Given the description of an element on the screen output the (x, y) to click on. 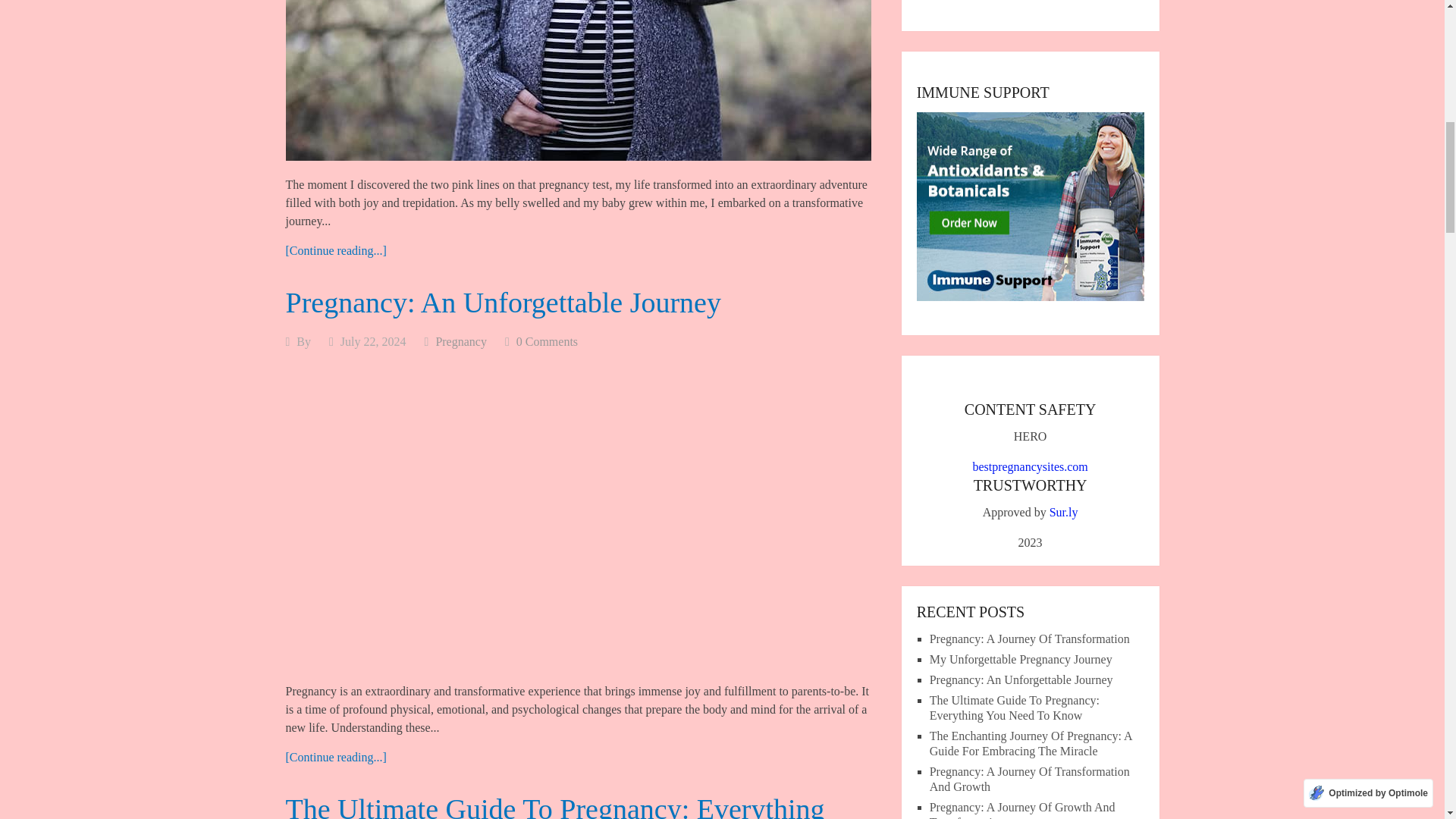
The Ultimate Guide To Pregnancy: Everything You Need To Know (554, 806)
Pregnancy: An Unforgettable Journey (502, 302)
Pregnancy (460, 341)
Pregnancy: An Unforgettable Journey (335, 757)
The Ultimate Guide To Pregnancy: Everything You Need To Know (554, 806)
My Unforgettable Pregnancy Journey (577, 80)
0 Comments (547, 341)
Pregnancy: An Unforgettable Journey (502, 302)
My Unforgettable Pregnancy Journey (335, 250)
